Given the description of an element on the screen output the (x, y) to click on. 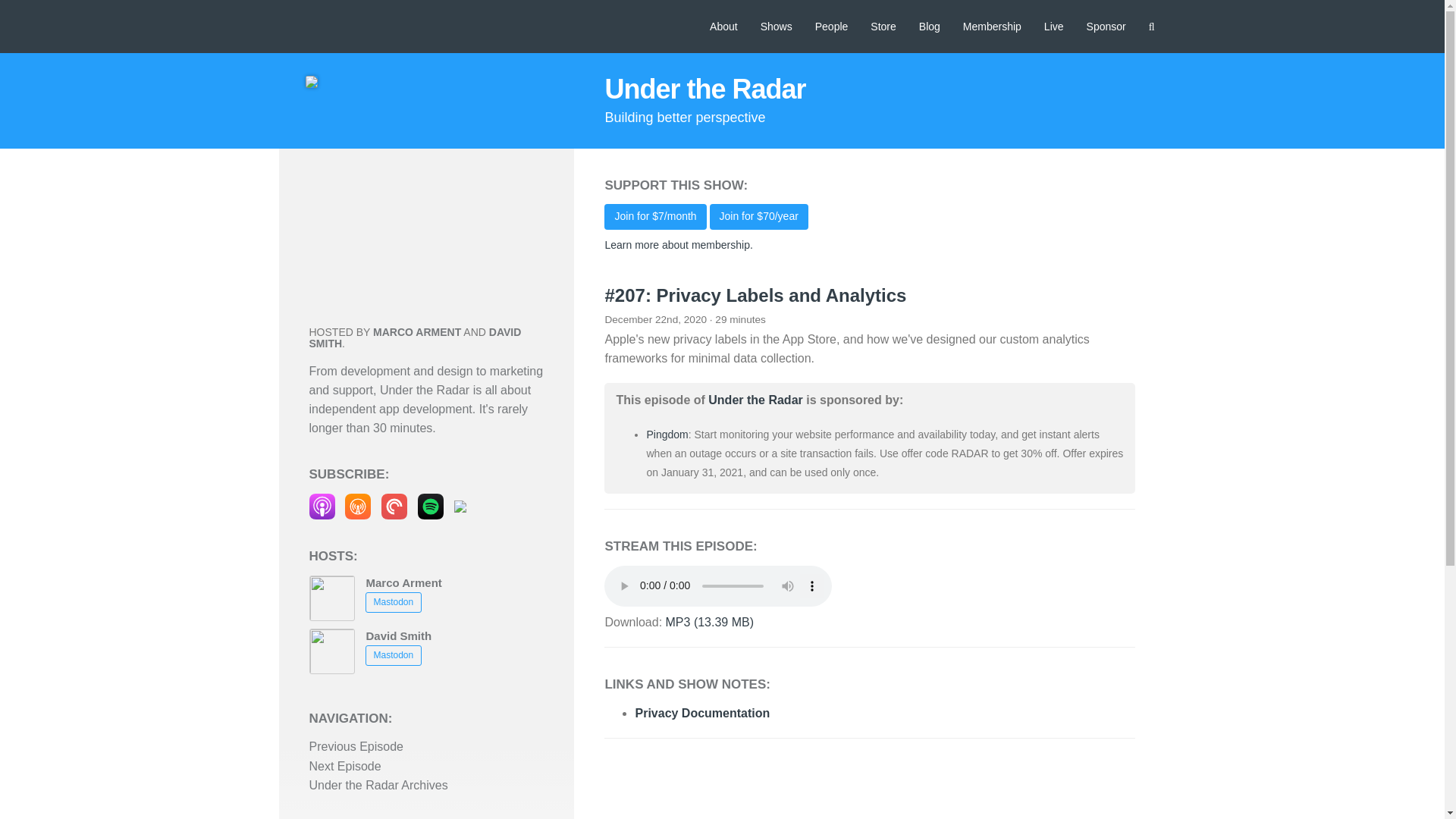
Membership (992, 26)
Mastodon (393, 655)
Download MP3 (709, 621)
Under the Radar (704, 88)
About (723, 26)
Add to Overcast (358, 505)
DAVID SMITH (414, 337)
Next Episode (344, 766)
MARCO ARMENT (416, 331)
Sponsor (1106, 26)
Previous Episode (356, 746)
Live (1053, 26)
Store (883, 26)
Subscribe via RSS (459, 505)
Listen on Spotify (430, 505)
